Given the description of an element on the screen output the (x, y) to click on. 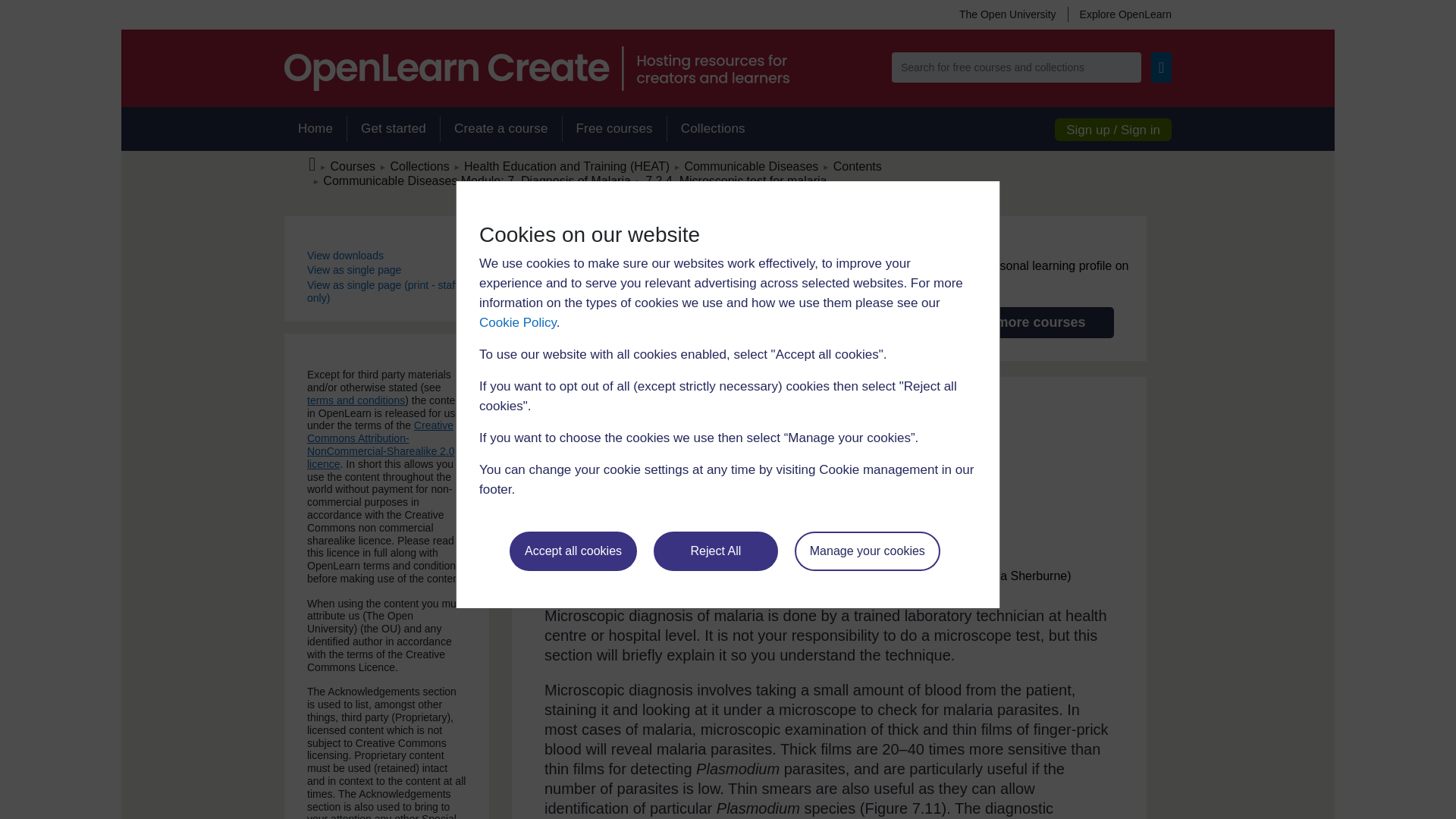
Cookie Policy (517, 322)
Manage your cookies (867, 550)
Accept all cookies (573, 550)
Home (314, 128)
Search (1161, 67)
SC Web Editor (476, 180)
Explore OpenLearn (1119, 14)
Get started (392, 128)
Create a course (500, 128)
The Open University (1007, 14)
Explore OpenLearn (1119, 14)
The Open University (1007, 14)
Reject All (715, 550)
Collections (712, 128)
Free courses (614, 128)
